Given the description of an element on the screen output the (x, y) to click on. 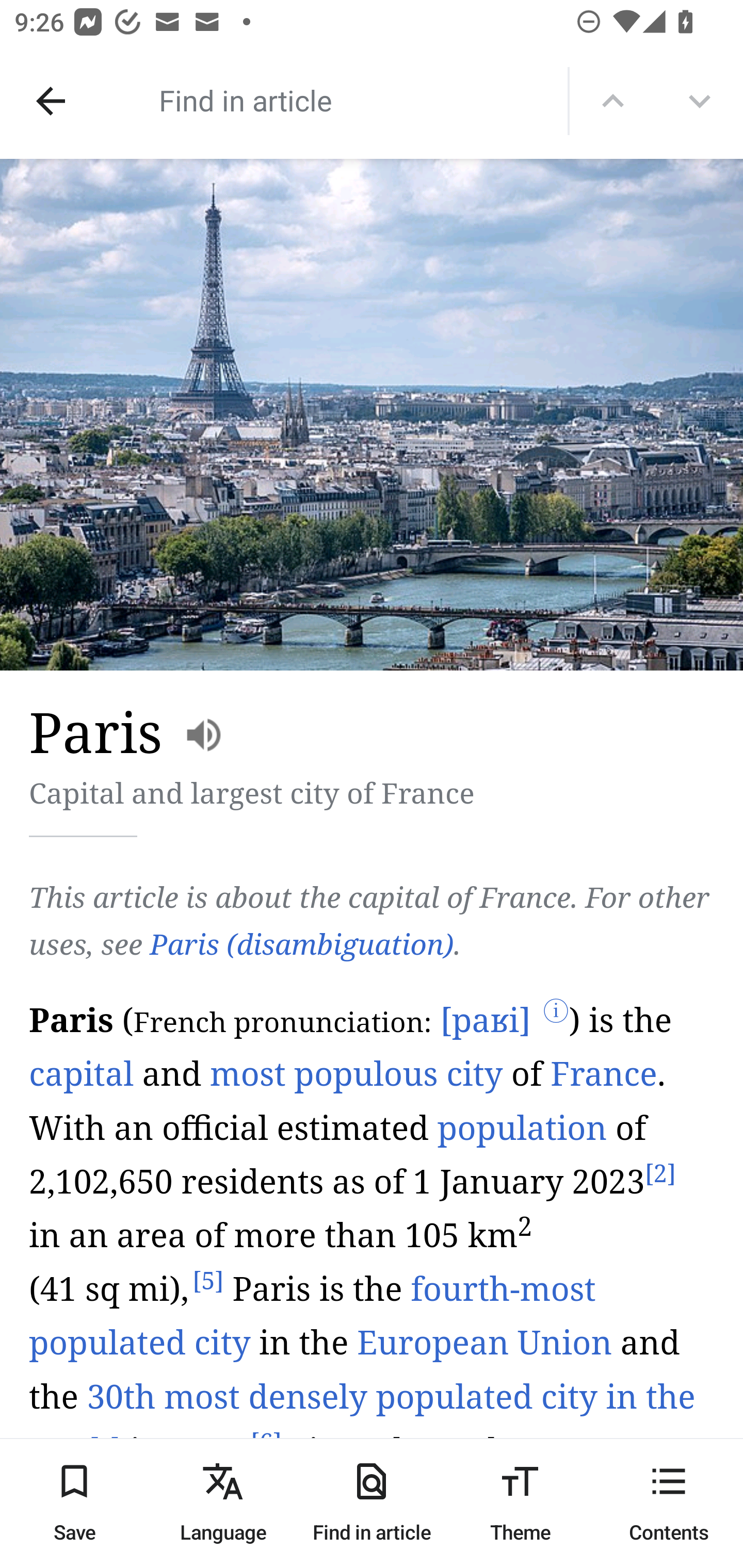
Done (50, 101)
Find previous (612, 101)
More options (699, 101)
Find in article (334, 100)
Image: Paris (371, 414)
Paris (disambiguation) (300, 944)
Play audio (372, 1280)
ⓘ (555, 1012)
[paʁi] [ paʁi ] (484, 1021)
capital (80, 1074)
most populous city (356, 1074)
France (604, 1074)
population (522, 1127)
[] [ 2 ] (659, 1174)
[] [ 5 ] (208, 1281)
fourth-most populated city (311, 1317)
European Union (484, 1343)
30th most densely populated city in the world (362, 1423)
Save (74, 1502)
Language (222, 1502)
Find in article (371, 1502)
Theme (519, 1502)
Contents (668, 1502)
